Given the description of an element on the screen output the (x, y) to click on. 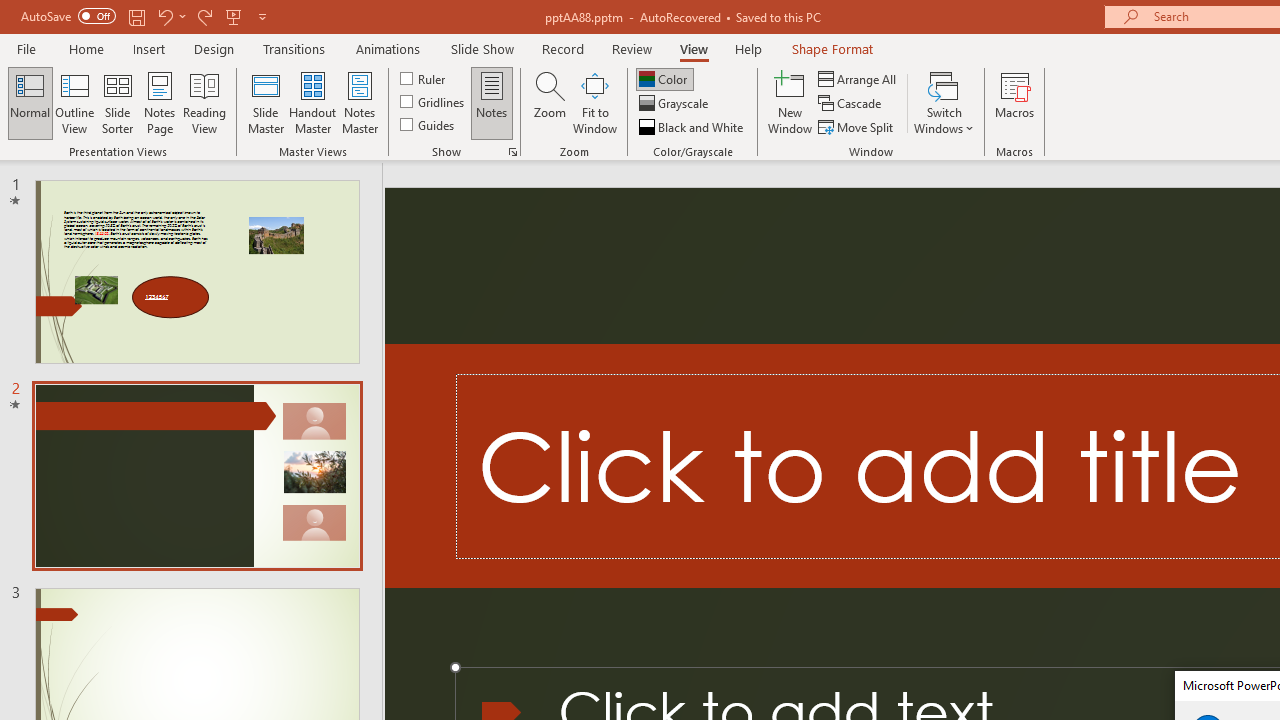
Slide Master (265, 102)
Grid Settings... (512, 151)
Zoom... (549, 102)
New Window (790, 102)
Handout Master (312, 102)
Black and White (693, 126)
